Given the description of an element on the screen output the (x, y) to click on. 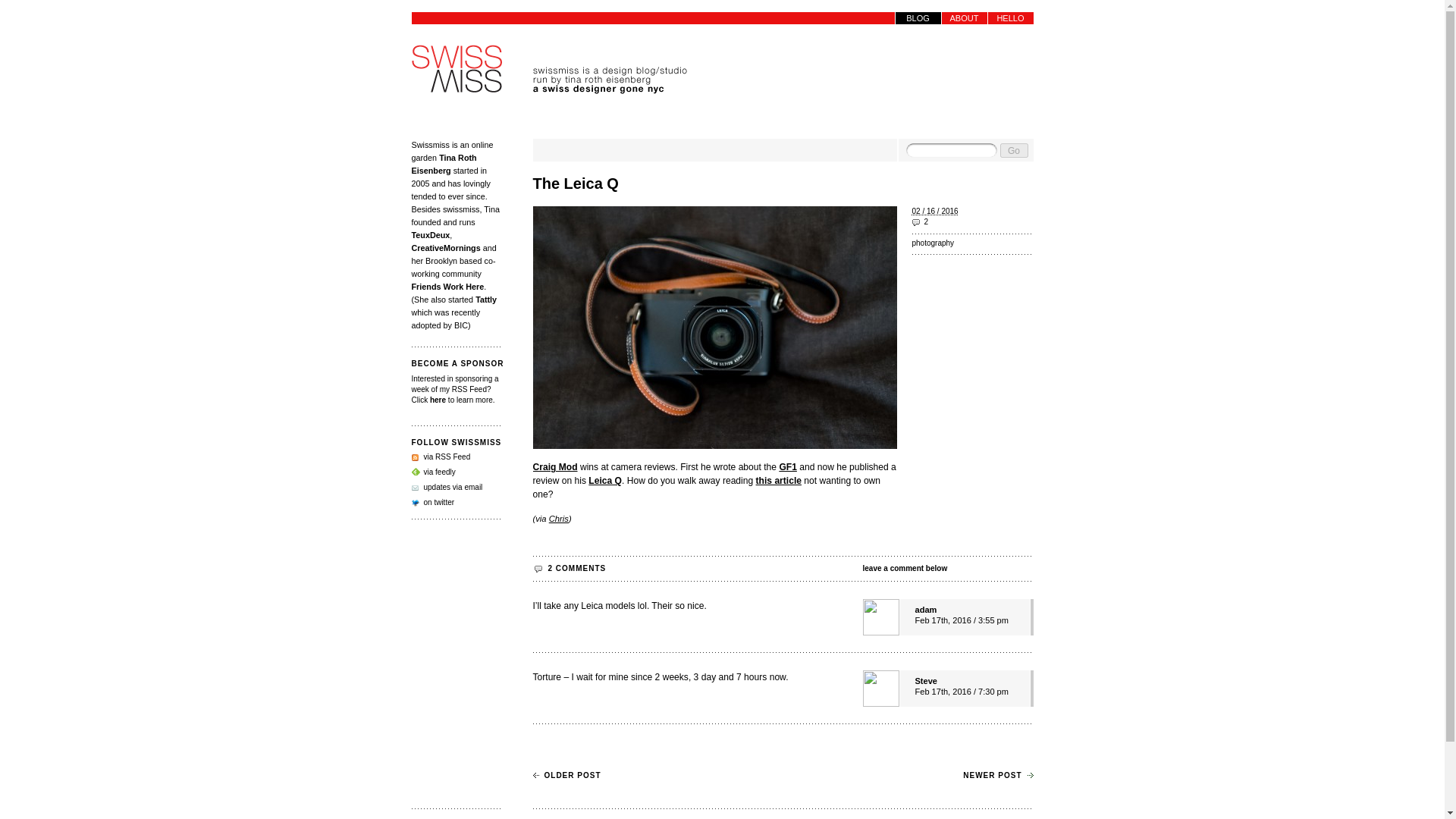
NEWER POST (997, 775)
here (437, 399)
ABOUT (964, 18)
Steve (925, 680)
updates via email (445, 487)
Craig Mod (554, 466)
Tina Roth Eisenberg (443, 164)
OLDER POST (565, 775)
Leica Q (604, 480)
photography (971, 243)
